Given the description of an element on the screen output the (x, y) to click on. 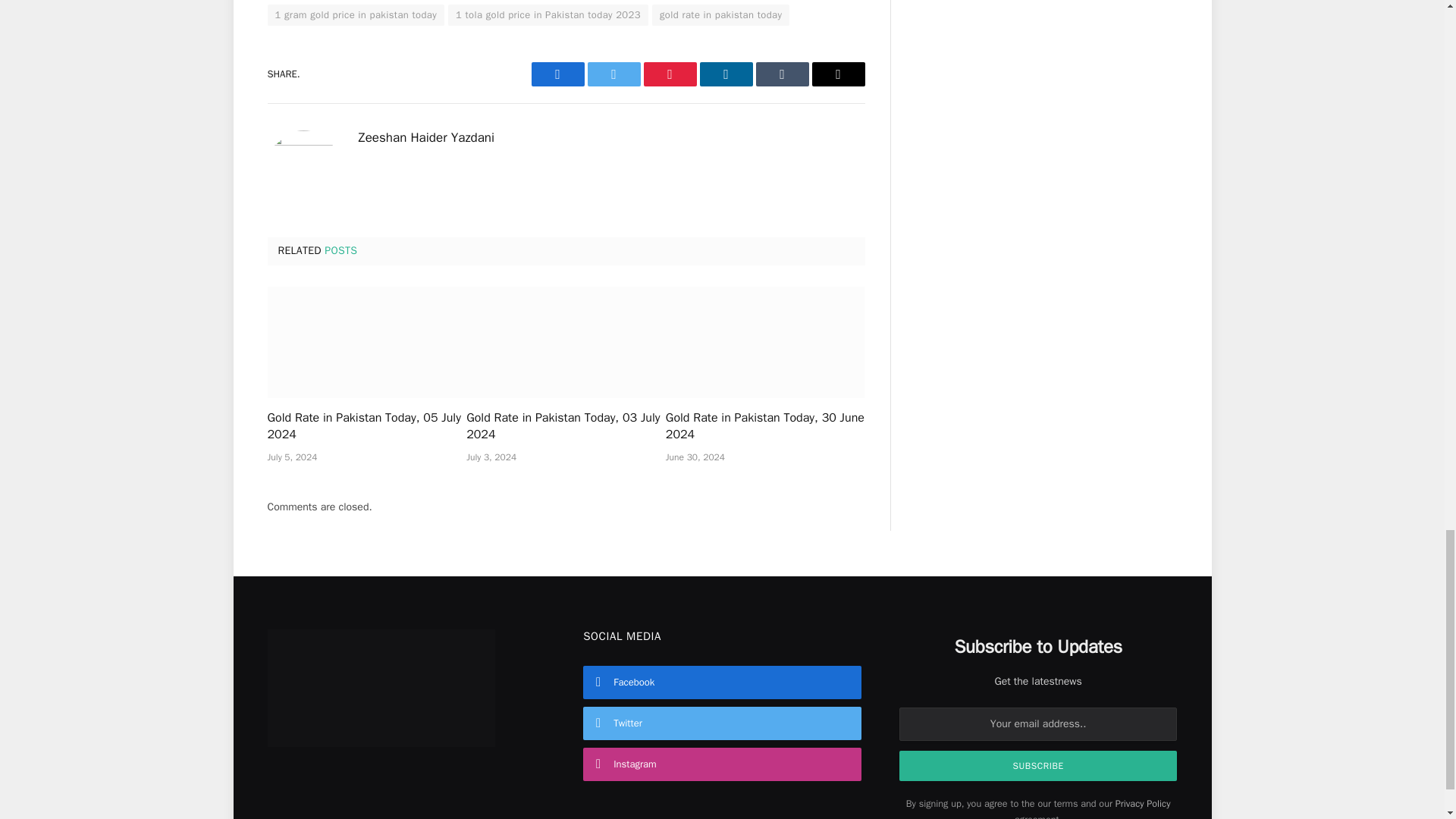
Subscribe (1038, 766)
